Given the description of an element on the screen output the (x, y) to click on. 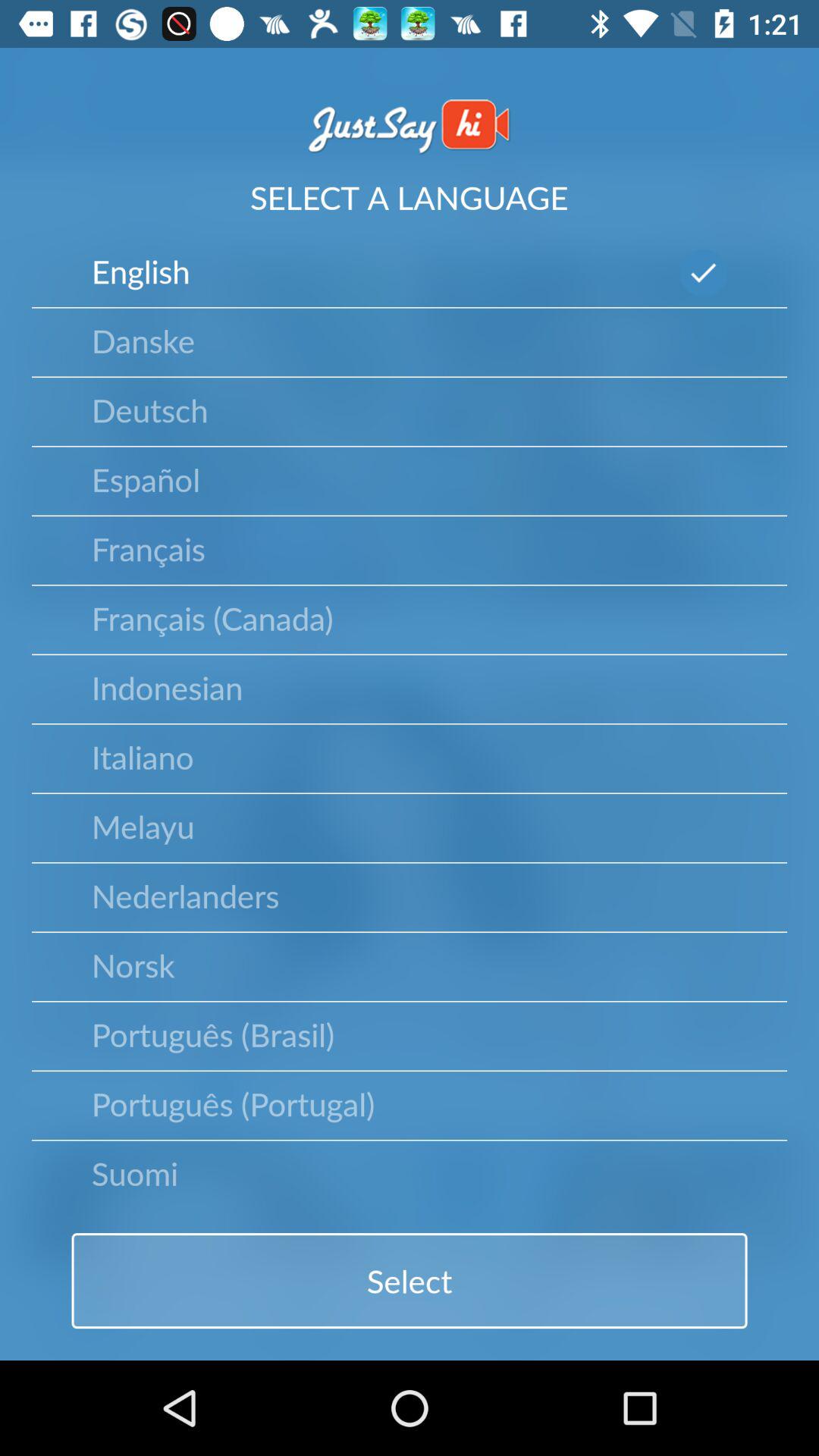
choose the item below melayu icon (185, 895)
